Given the description of an element on the screen output the (x, y) to click on. 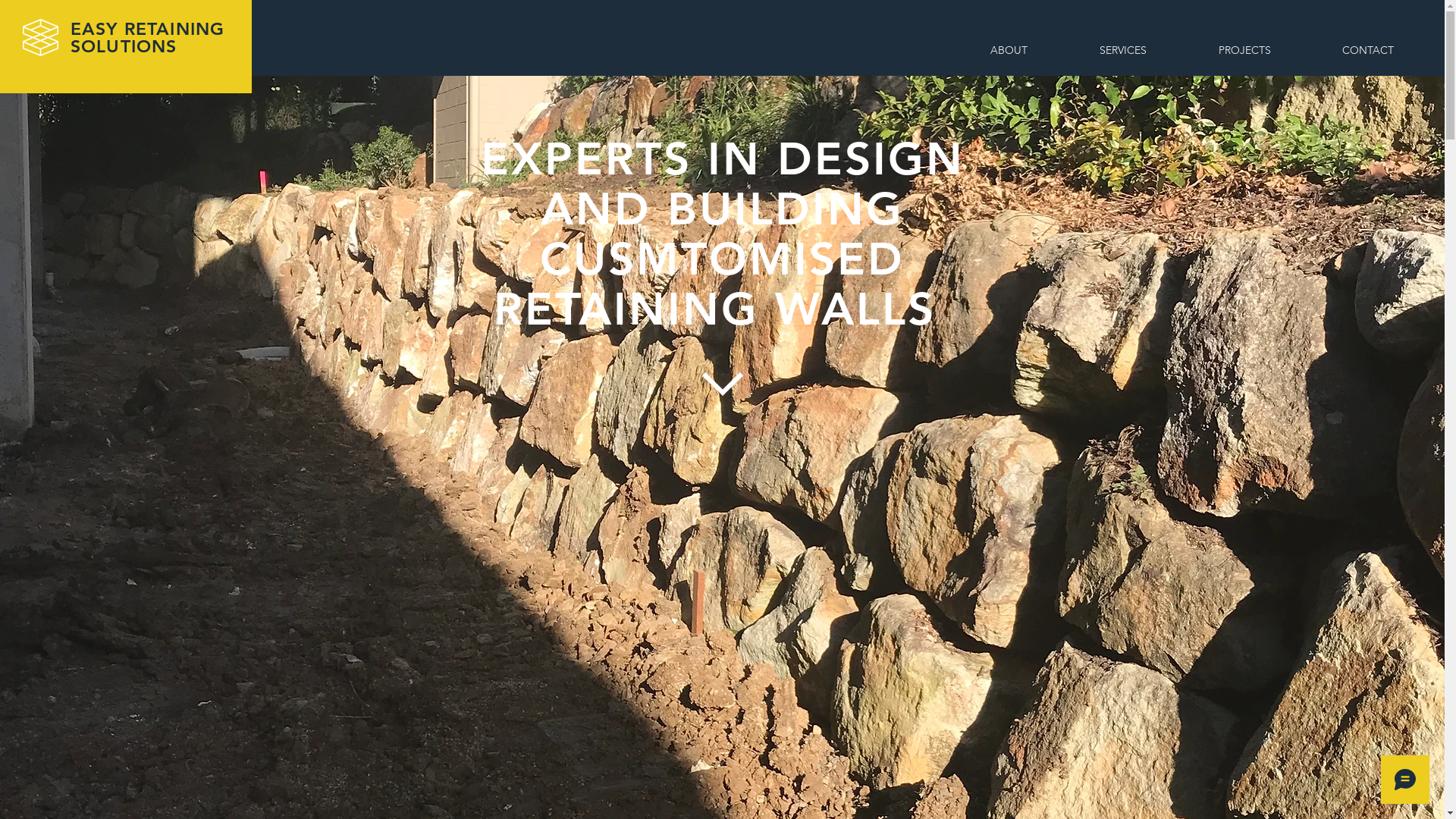
SERVICES Element type: text (1122, 50)
ABOUT Element type: text (1008, 50)
PROJECTS Element type: text (1244, 50)
CONTACT Element type: text (1367, 50)
EASY RETAINING SOLUTIONS Element type: text (147, 37)
